Given the description of an element on the screen output the (x, y) to click on. 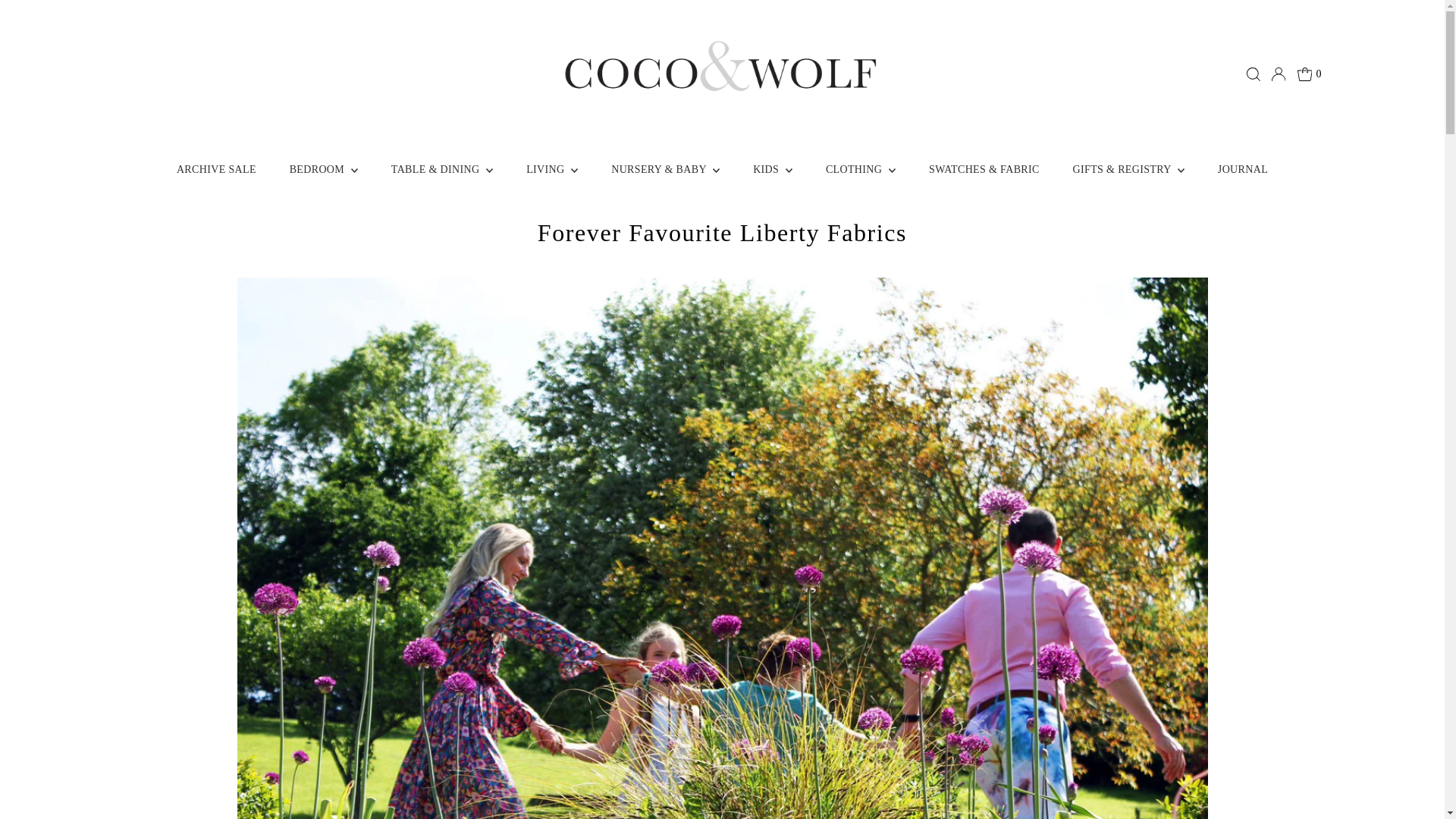
0 (1309, 74)
0 (1308, 74)
ARCHIVE SALE (215, 169)
